Given the description of an element on the screen output the (x, y) to click on. 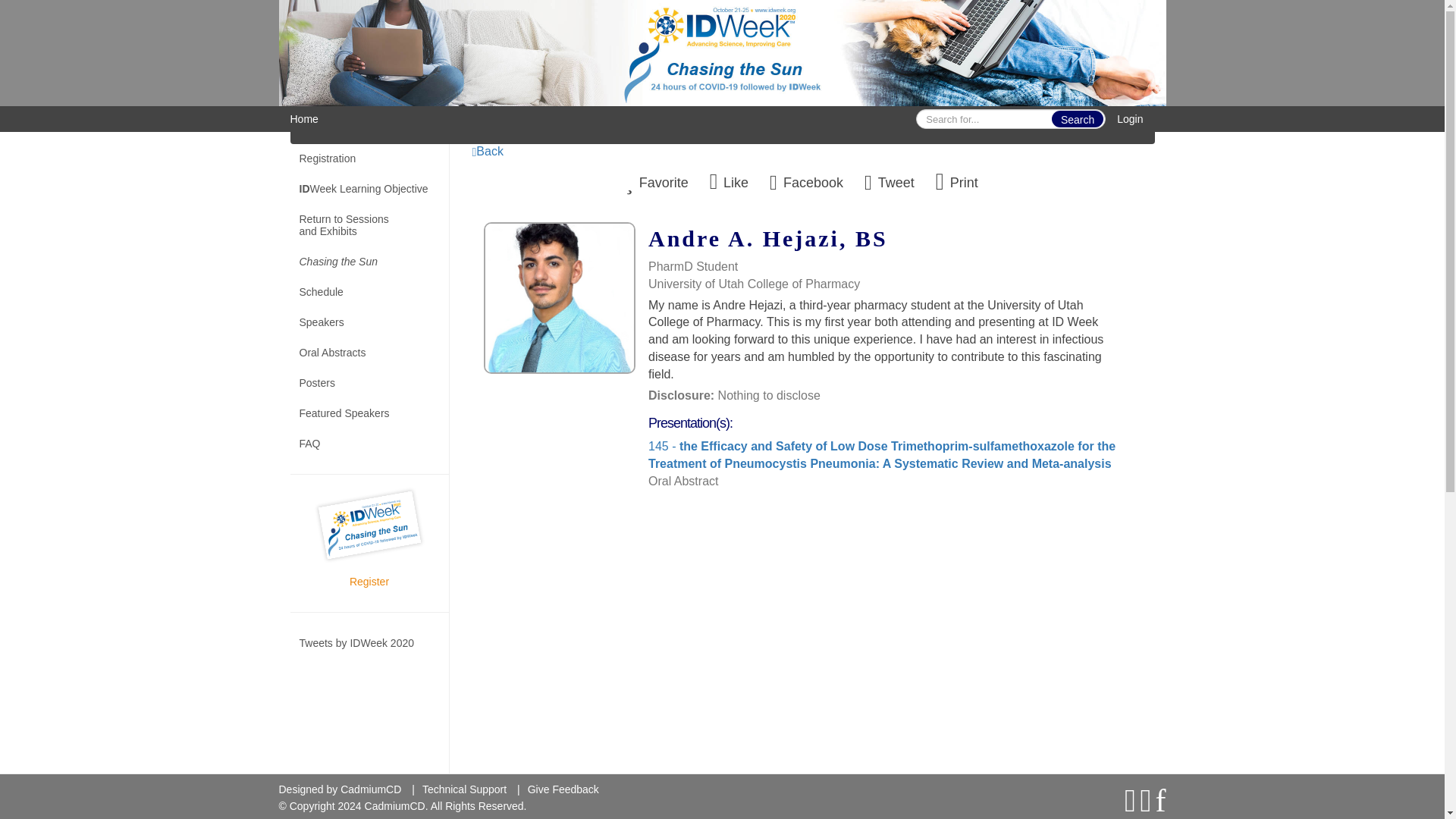
Tweet this presenter (889, 181)
Print this presentation (957, 181)
Post this presentation to Facebook (806, 181)
